Given the description of an element on the screen output the (x, y) to click on. 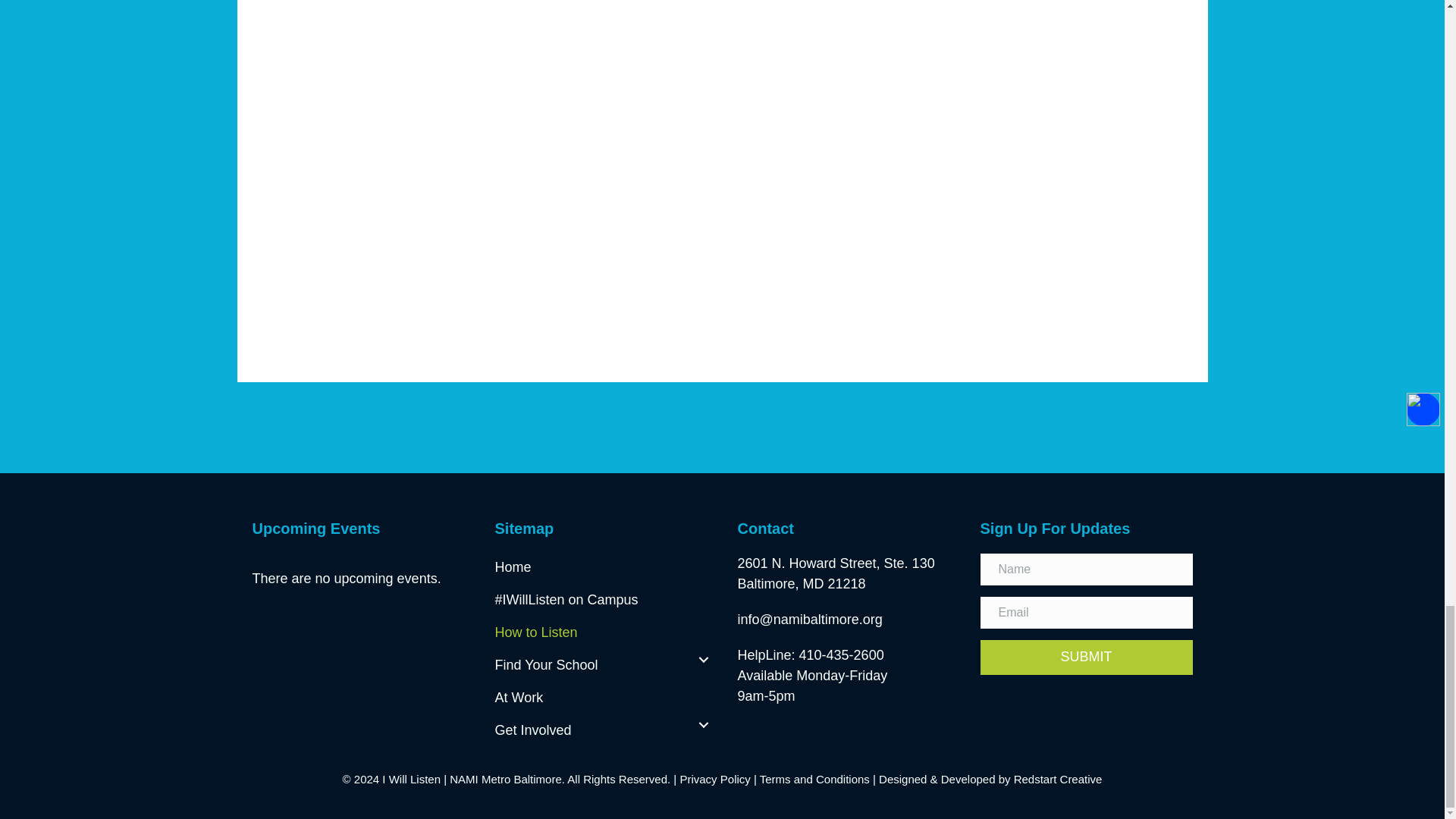
Find Your School (600, 659)
How to Listen (600, 626)
Home (600, 562)
